Given the description of an element on the screen output the (x, y) to click on. 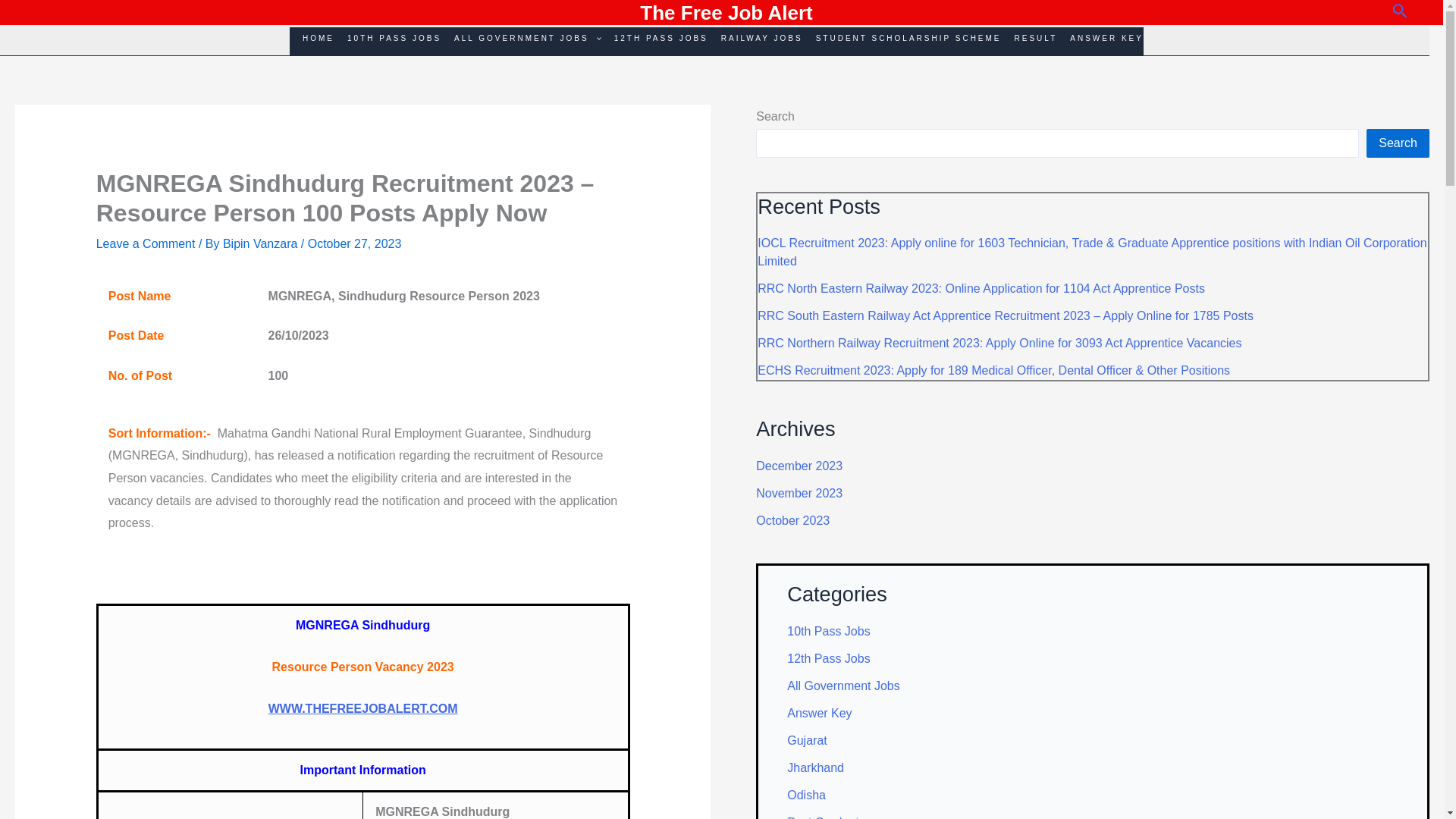
Leave a Comment (145, 243)
View all posts by Bipin Vanzara (261, 243)
HOME (311, 41)
10th Pass Jobs (828, 631)
Answer Key (819, 712)
Gujarat (807, 739)
RAILWAY JOBS (755, 41)
ALL GOVERNMENT JOBS (521, 41)
10TH PASS JOBS (387, 41)
All Government Jobs (843, 685)
December 2023 (799, 465)
RESULT (1029, 41)
WWW.THEFREEJOBALERT.COM (362, 707)
Bipin Vanzara (261, 243)
